Given the description of an element on the screen output the (x, y) to click on. 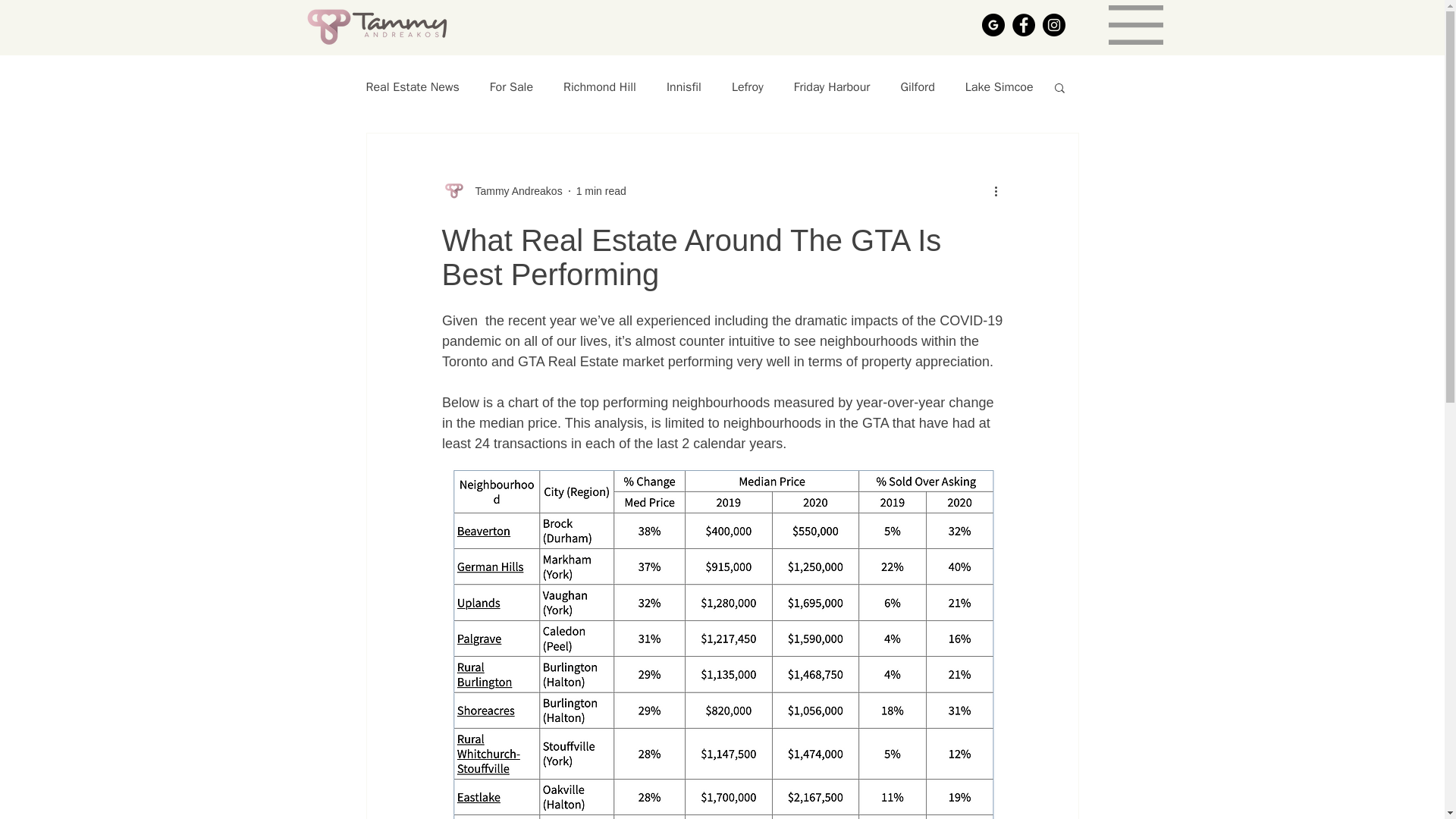
Lake Simcoe (999, 86)
Tammy Andreakos (513, 191)
Real Estate News (411, 86)
1 min read (601, 191)
Innisfil (683, 86)
For Sale (510, 86)
Friday Harbour (831, 86)
Lefroy (747, 86)
Gilford (916, 86)
Richmond Hill (599, 86)
